Given the description of an element on the screen output the (x, y) to click on. 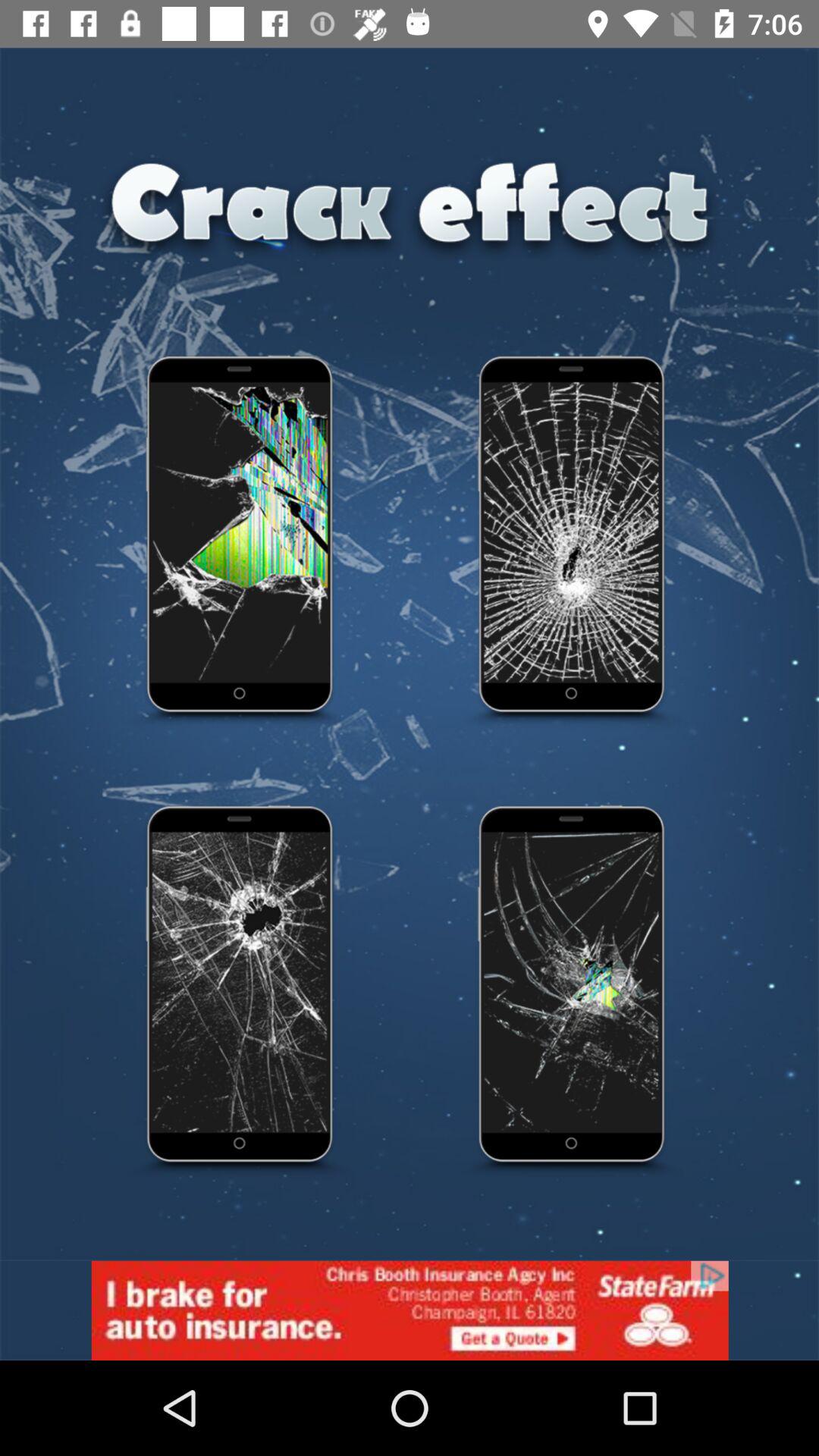
click to select effect (240, 992)
